Given the description of an element on the screen output the (x, y) to click on. 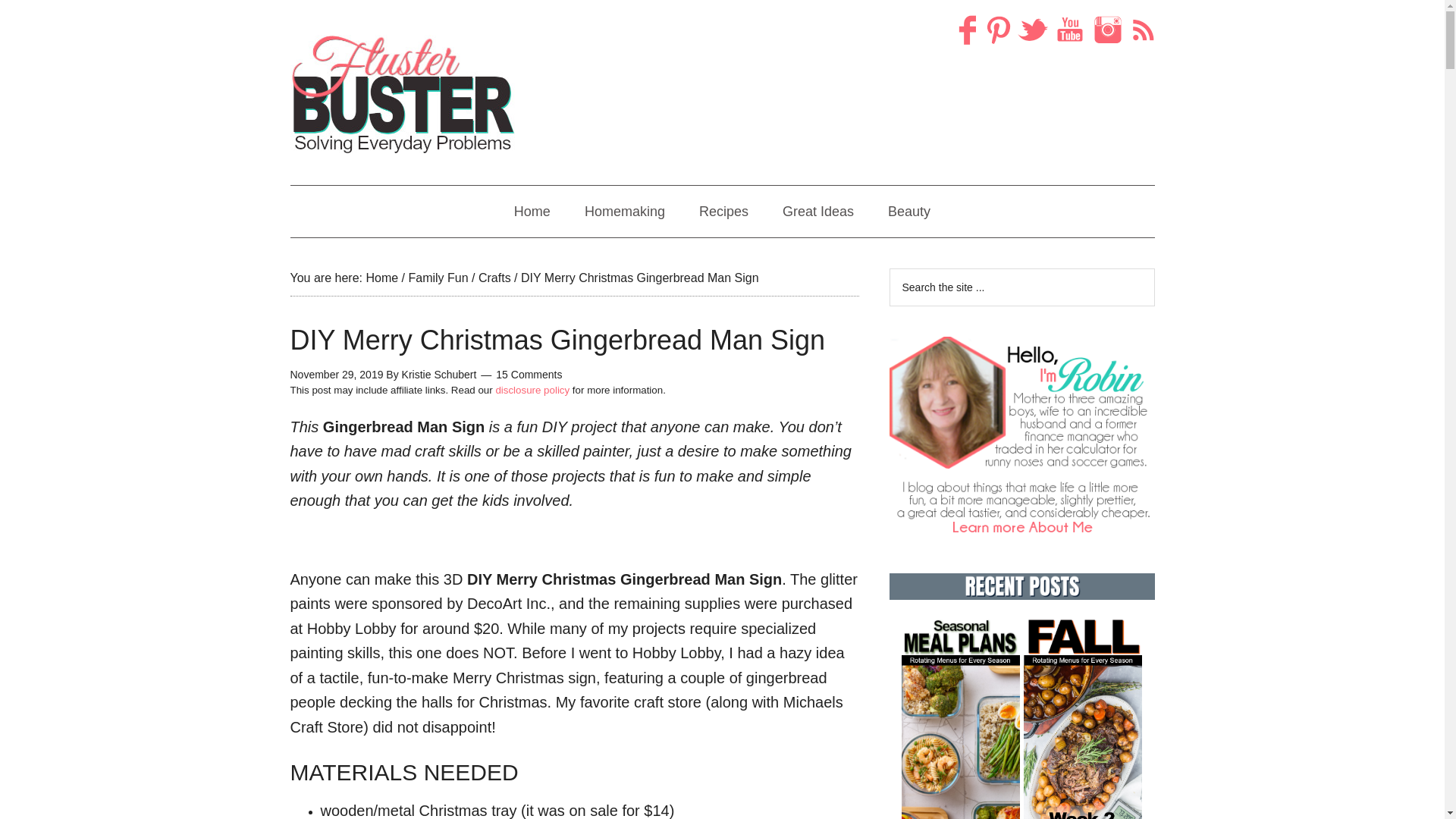
Great Ideas (818, 211)
Family Fun (437, 277)
Kristie Schubert (439, 374)
Beauty (908, 211)
disclosure policy (532, 389)
Home (532, 211)
Crafts (495, 277)
Fluster Buster (402, 93)
15 Comments (529, 374)
